Given the description of an element on the screen output the (x, y) to click on. 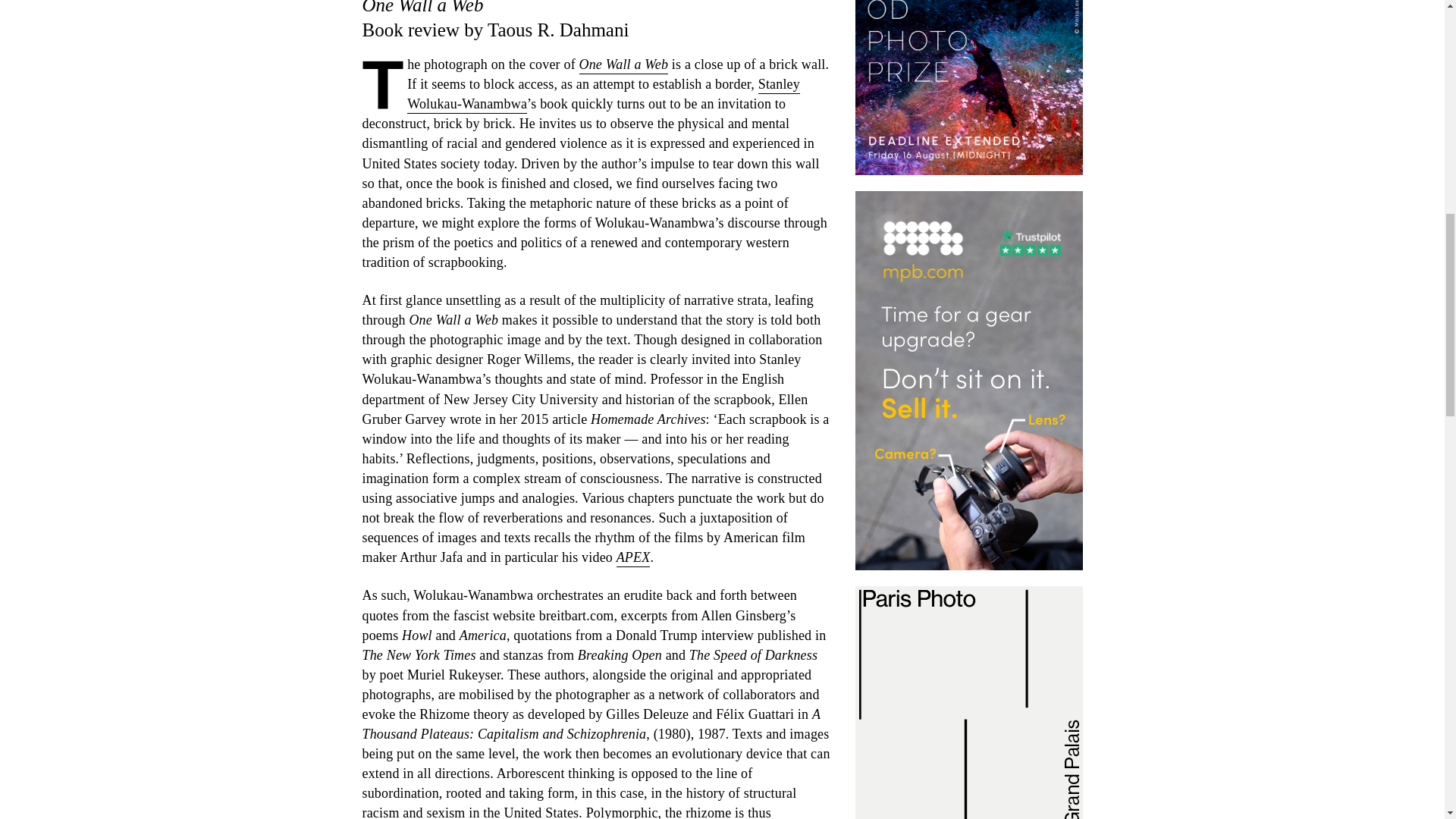
One Wall a Web (623, 65)
APEX (632, 558)
Stanley Wolukau-Wanambwa (603, 94)
